Given the description of an element on the screen output the (x, y) to click on. 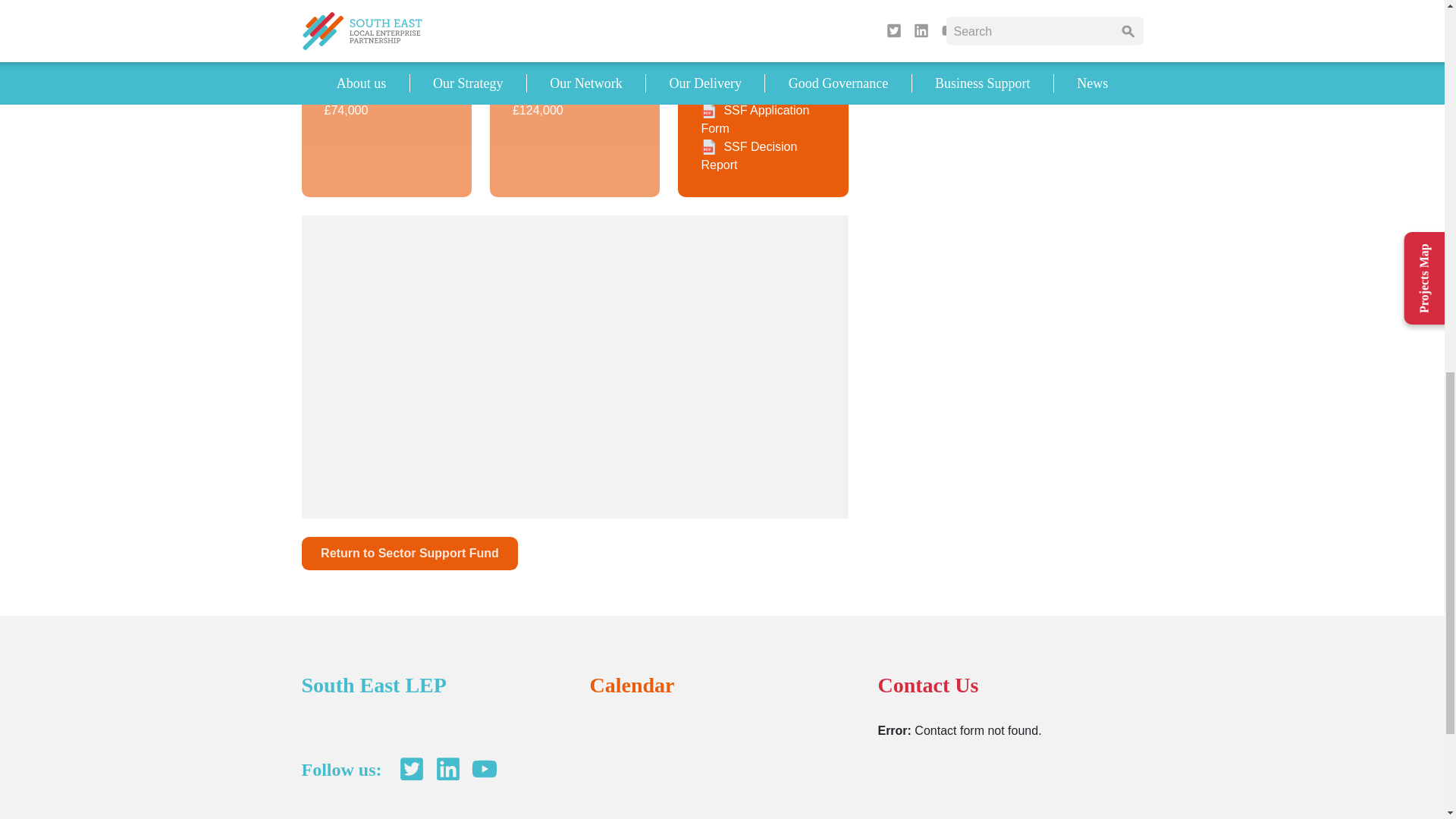
Social media link to Linkedin (447, 769)
Return to projects (409, 553)
Social media link to Twitter (411, 769)
Social media link to youtube (483, 769)
